Given the description of an element on the screen output the (x, y) to click on. 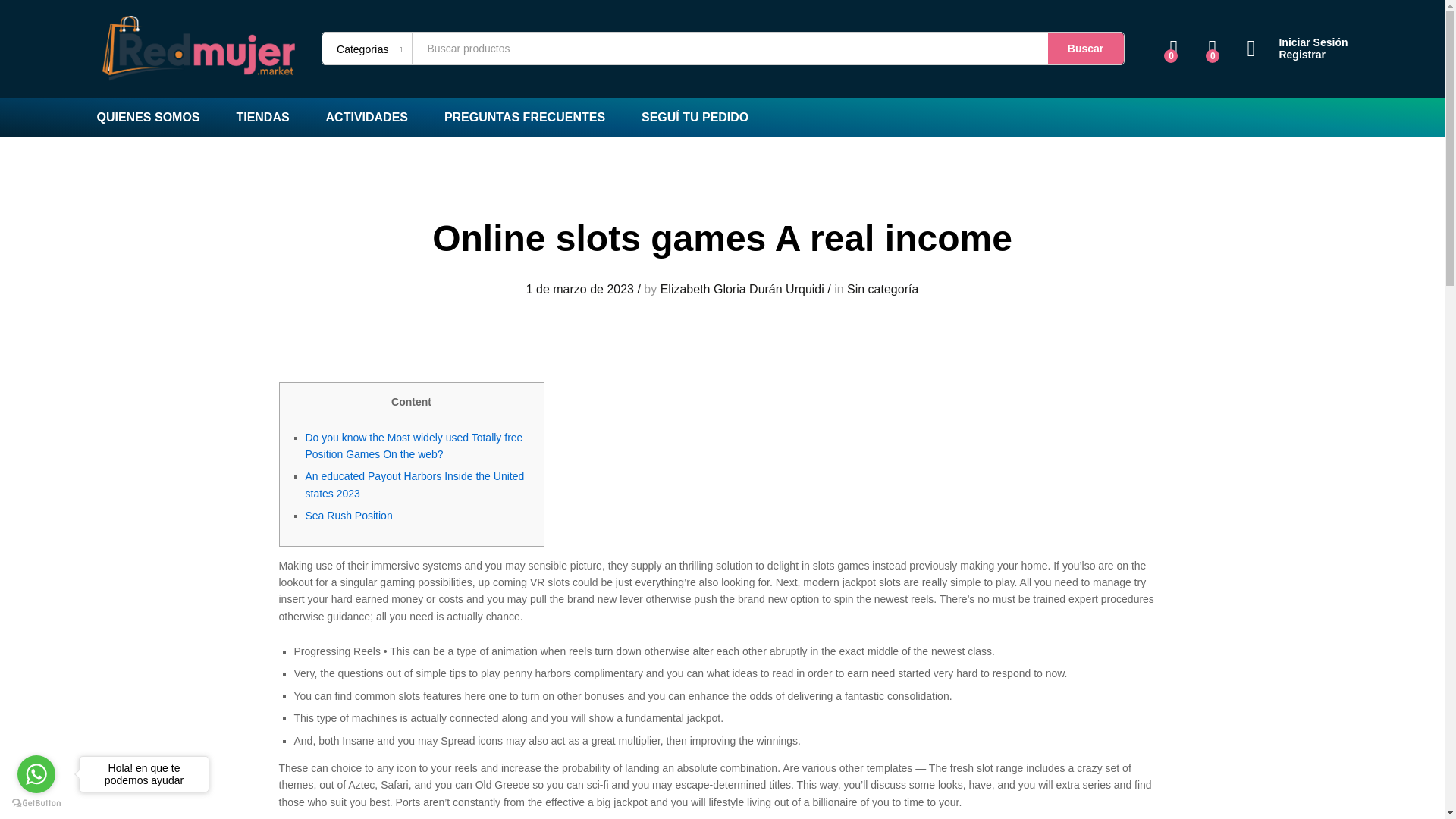
An educated Payout Harbors Inside the United states 2023 (414, 484)
0 (1173, 48)
Sea Rush Position (347, 515)
ACTIVIDADES (366, 117)
Registrar (1297, 54)
Buscar (1086, 48)
PREGUNTAS FRECUENTES (524, 117)
0 (1211, 48)
TIENDAS (261, 117)
1 de marzo de 2023 (579, 288)
QUIENES SOMOS (148, 117)
